Given the description of an element on the screen output the (x, y) to click on. 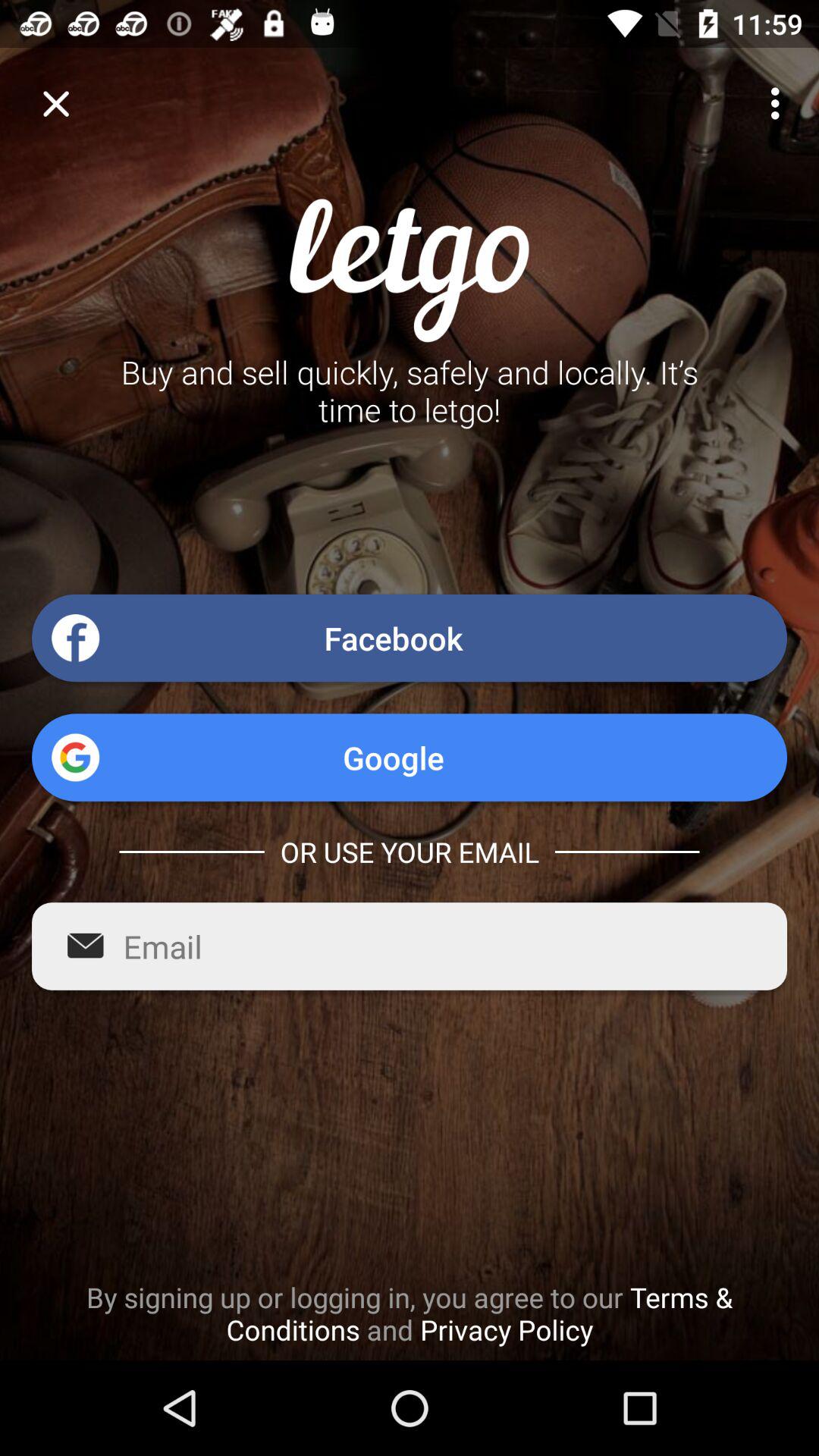
launch the item above or use your item (409, 757)
